Given the description of an element on the screen output the (x, y) to click on. 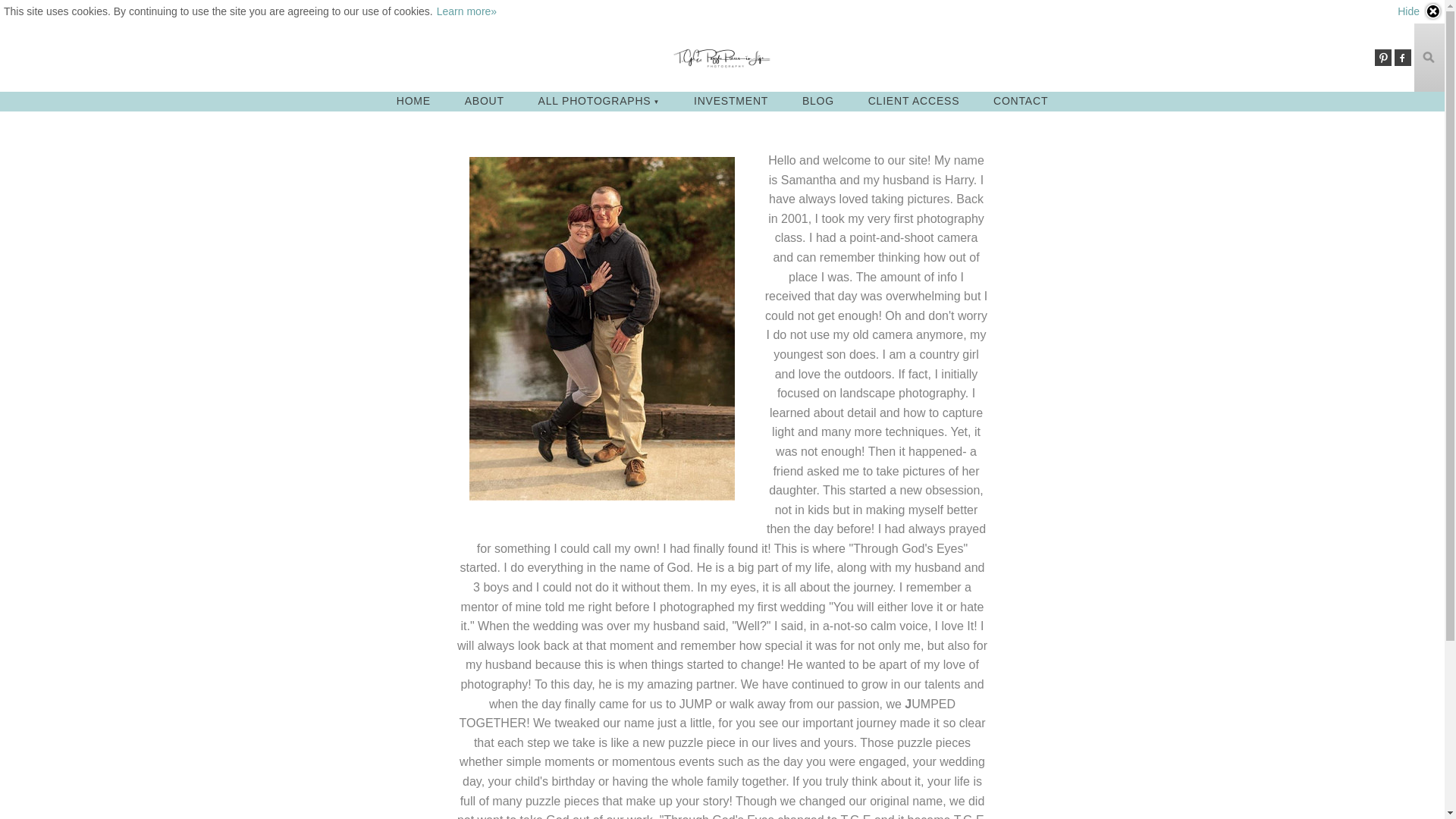
T.G.E. Puzzle Pieces in Life Photography (722, 57)
ABOUT (484, 100)
INVESTMENT (730, 100)
CLIENT ACCESS (914, 100)
HOME (413, 100)
BLOG (817, 100)
CONTACT (1020, 100)
Hide (1419, 11)
